Given the description of an element on the screen output the (x, y) to click on. 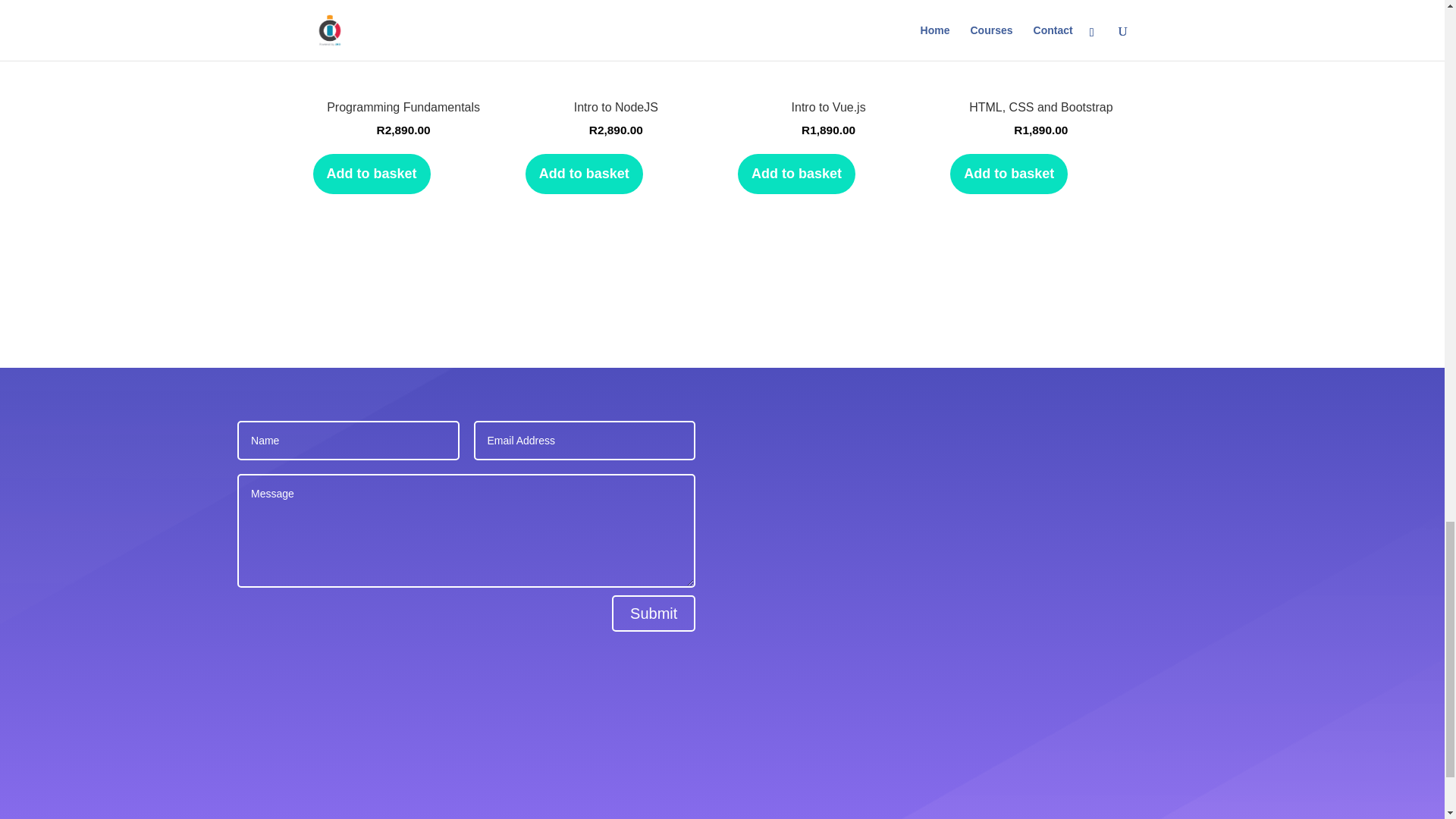
Add to basket (584, 173)
Add to basket (828, 90)
Add to basket (1008, 173)
Submit (615, 90)
Add to basket (371, 173)
